Given the description of an element on the screen output the (x, y) to click on. 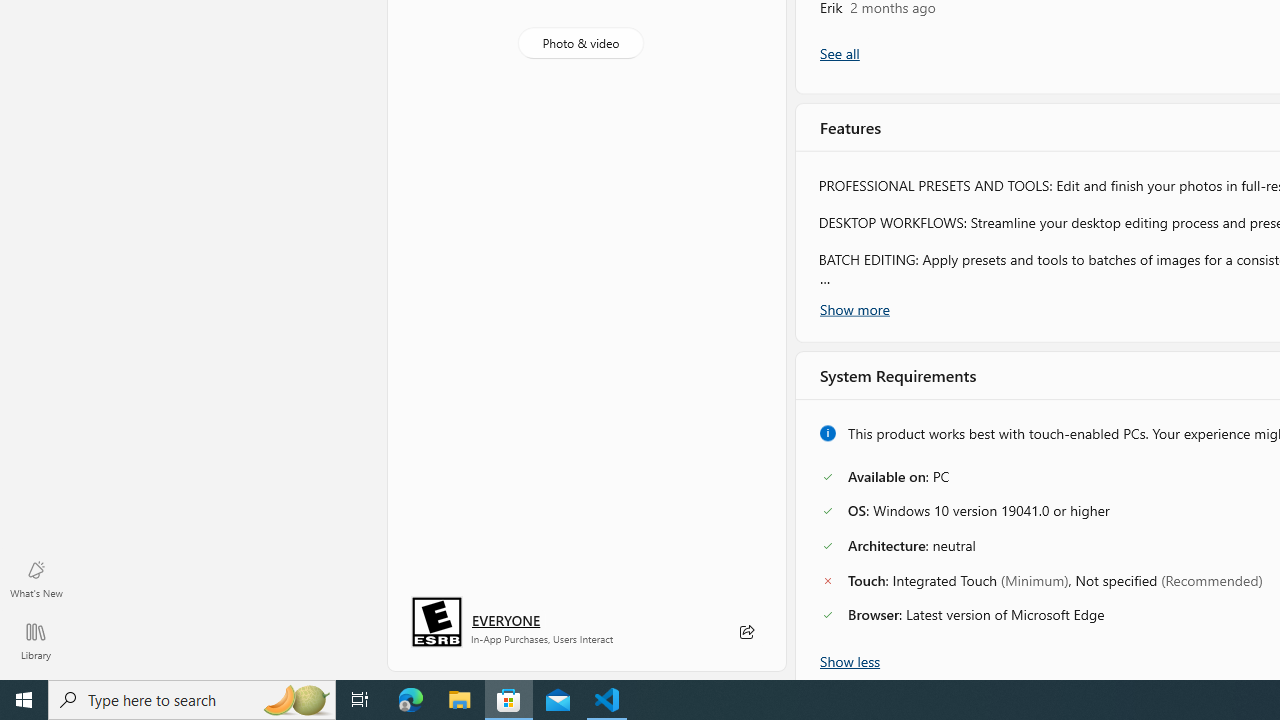
Show more (854, 307)
Share (746, 632)
Photo & video (579, 43)
Show all ratings and reviews (838, 53)
Age rating: EVERYONE. Click for more information. (506, 619)
Show less (850, 659)
